Given the description of an element on the screen output the (x, y) to click on. 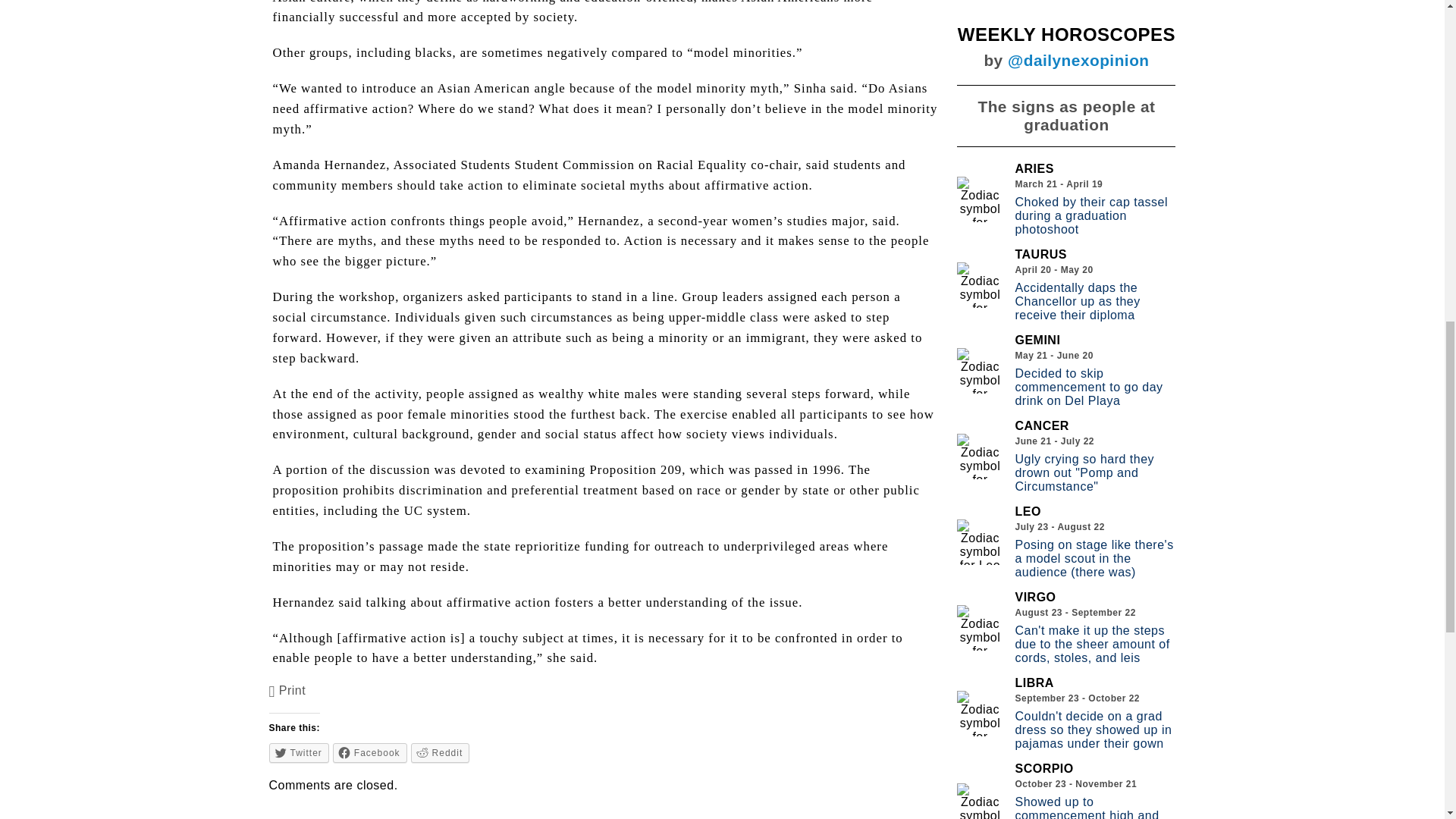
Click to share on Reddit (440, 752)
Click to share on Twitter (299, 752)
Click to share on Facebook (370, 752)
